Given the description of an element on the screen output the (x, y) to click on. 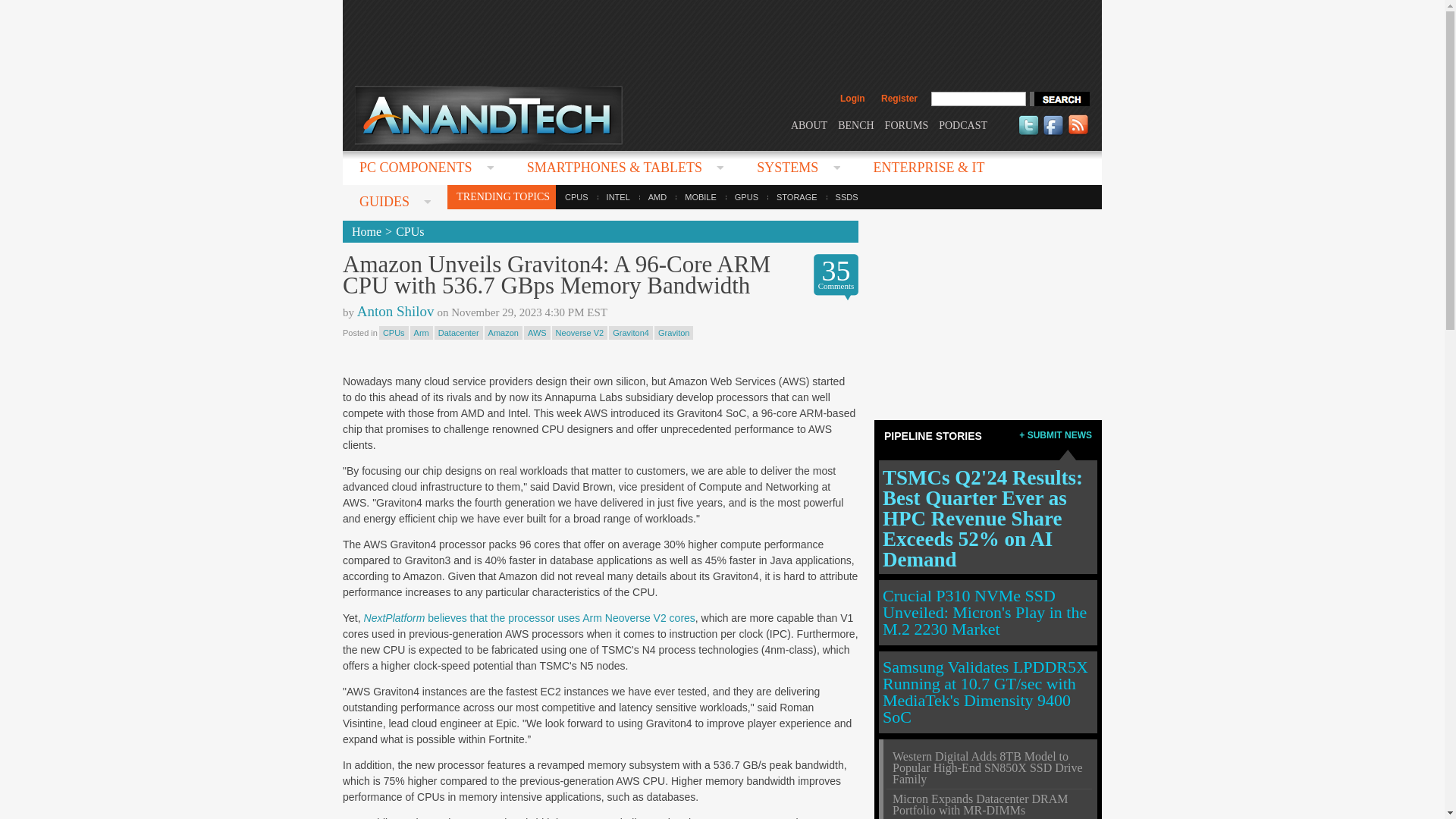
search (1059, 98)
Login (852, 98)
PODCAST (963, 125)
search (1059, 98)
search (1059, 98)
FORUMS (906, 125)
ABOUT (808, 125)
Register (898, 98)
BENCH (855, 125)
